Given the description of an element on the screen output the (x, y) to click on. 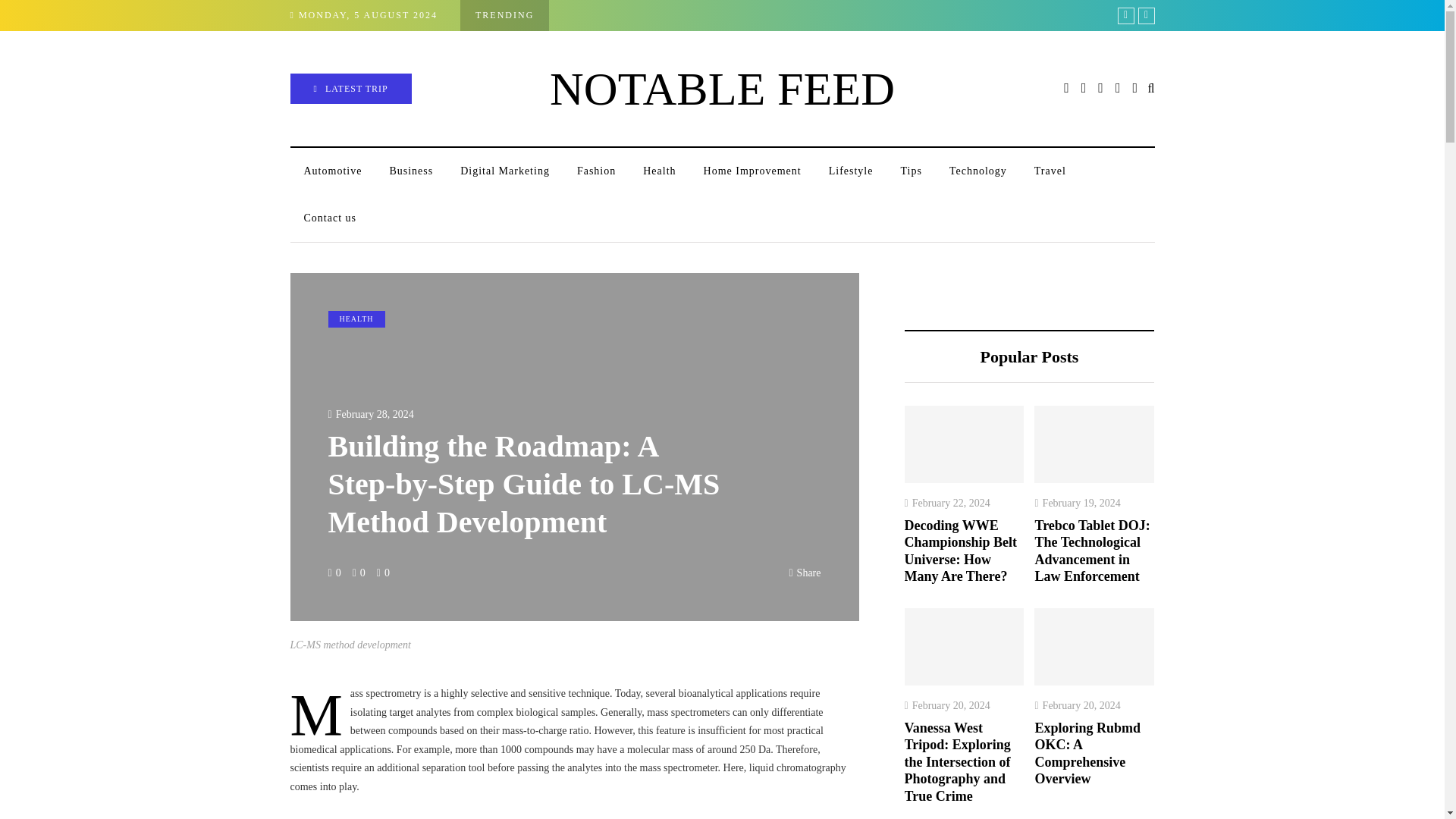
NOTABLE FEED (722, 88)
Lifestyle (850, 170)
Digital Marketing (504, 170)
Home Improvement (752, 170)
HEALTH (355, 319)
Tips (910, 170)
Contact us (329, 217)
Automotive (332, 170)
Fashion (595, 170)
LATEST TRIP (349, 88)
Health (658, 170)
Technology (978, 170)
Travel (1050, 170)
Business (410, 170)
